Given the description of an element on the screen output the (x, y) to click on. 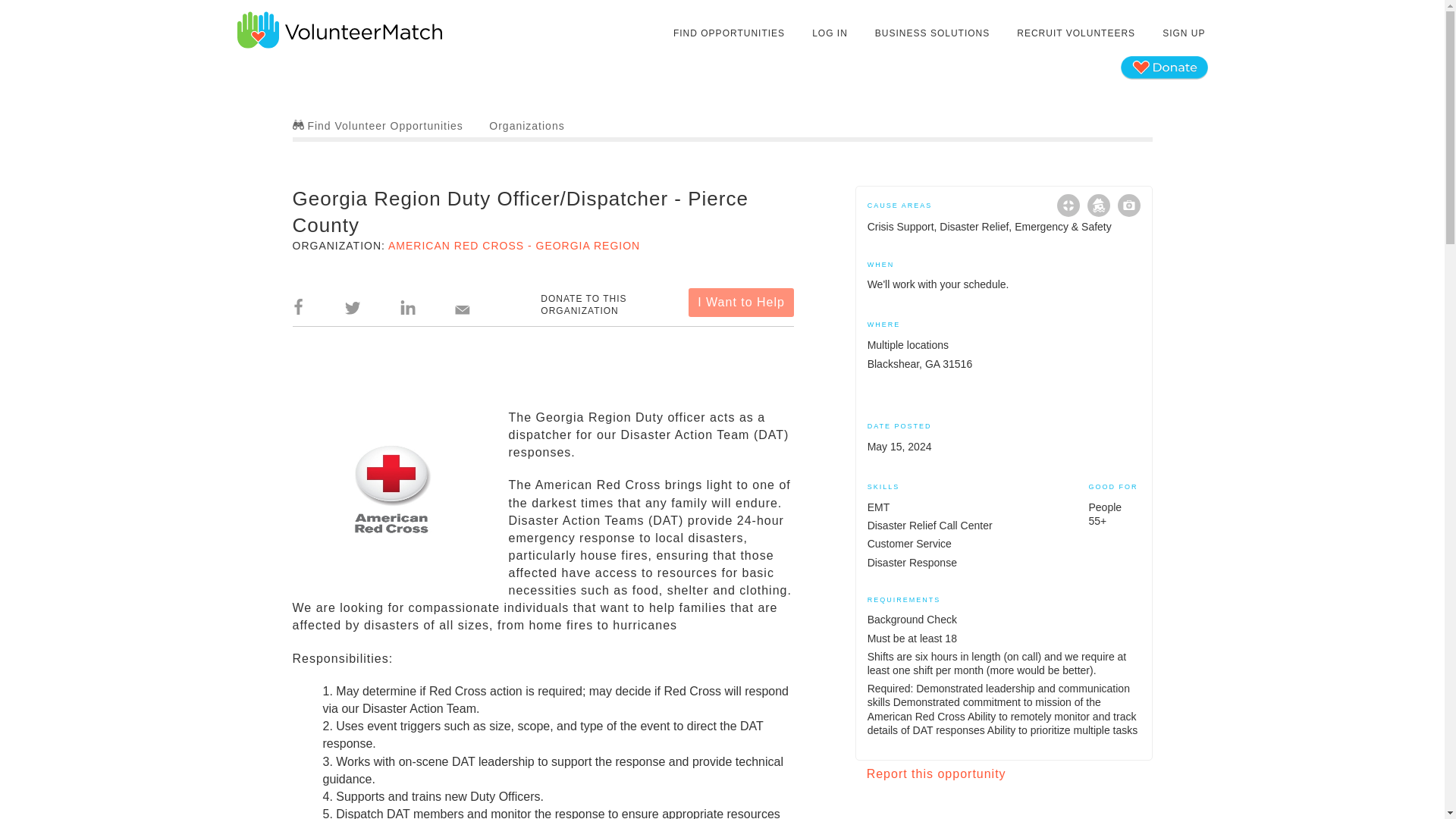
SIGN UP (1183, 32)
logo (391, 488)
I Want to Help (740, 302)
LOG IN (829, 32)
RECRUIT VOLUNTEERS (1075, 32)
BUSINESS SOLUTIONS (931, 32)
FIND OPPORTUNITIES (729, 32)
Disaster Relief (1098, 205)
Find Volunteer Opportunities (377, 125)
I Want to Help (740, 302)
AMERICAN RED CROSS - GEORGIA REGION (514, 245)
Crisis Support (1068, 205)
Organizations (526, 125)
Report this opportunity (936, 773)
